Given the description of an element on the screen output the (x, y) to click on. 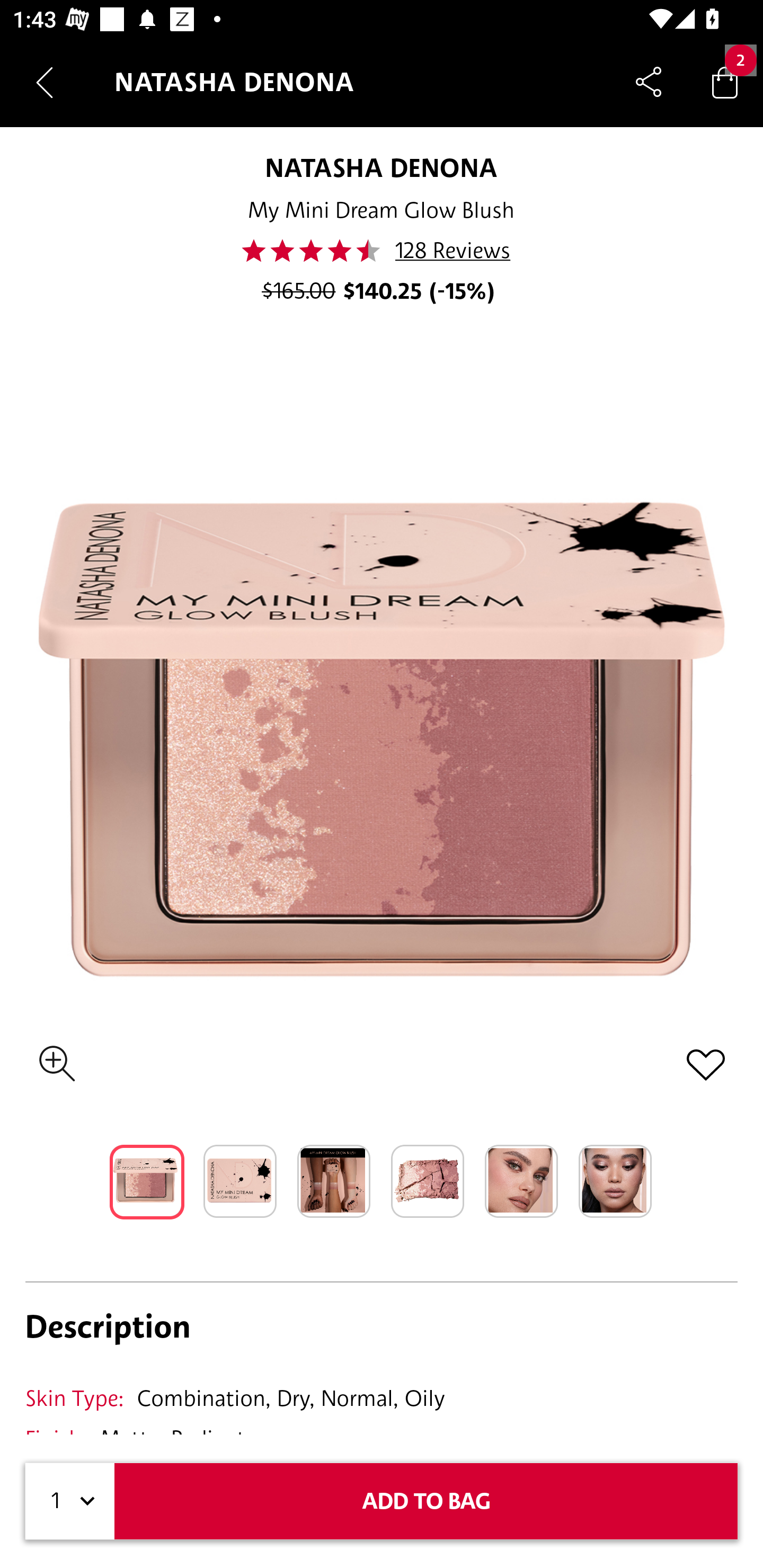
Navigate up (44, 82)
Share (648, 81)
Bag (724, 81)
NATASHA DENONA (381, 167)
45.0 128 Reviews (381, 250)
1 (69, 1500)
ADD TO BAG (425, 1500)
